Given the description of an element on the screen output the (x, y) to click on. 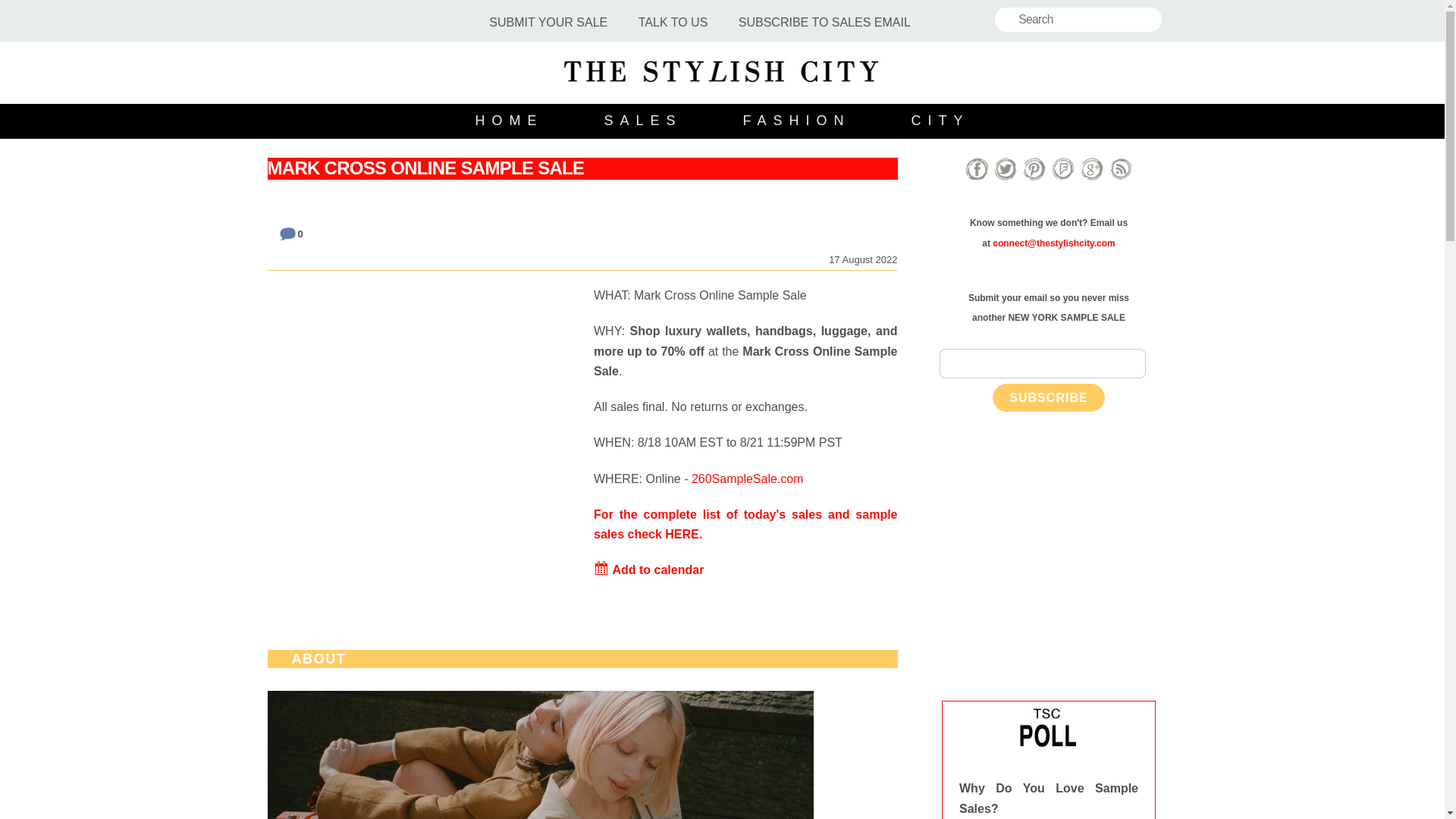
HOME (509, 121)
Search (1077, 19)
TALK TO US (673, 22)
SUBSCRIBE TO SALES EMAIL (824, 22)
FASHION (795, 121)
Subscribe (1048, 397)
Add to calendar (648, 569)
SALES (642, 121)
CITY (939, 121)
